Given the description of an element on the screen output the (x, y) to click on. 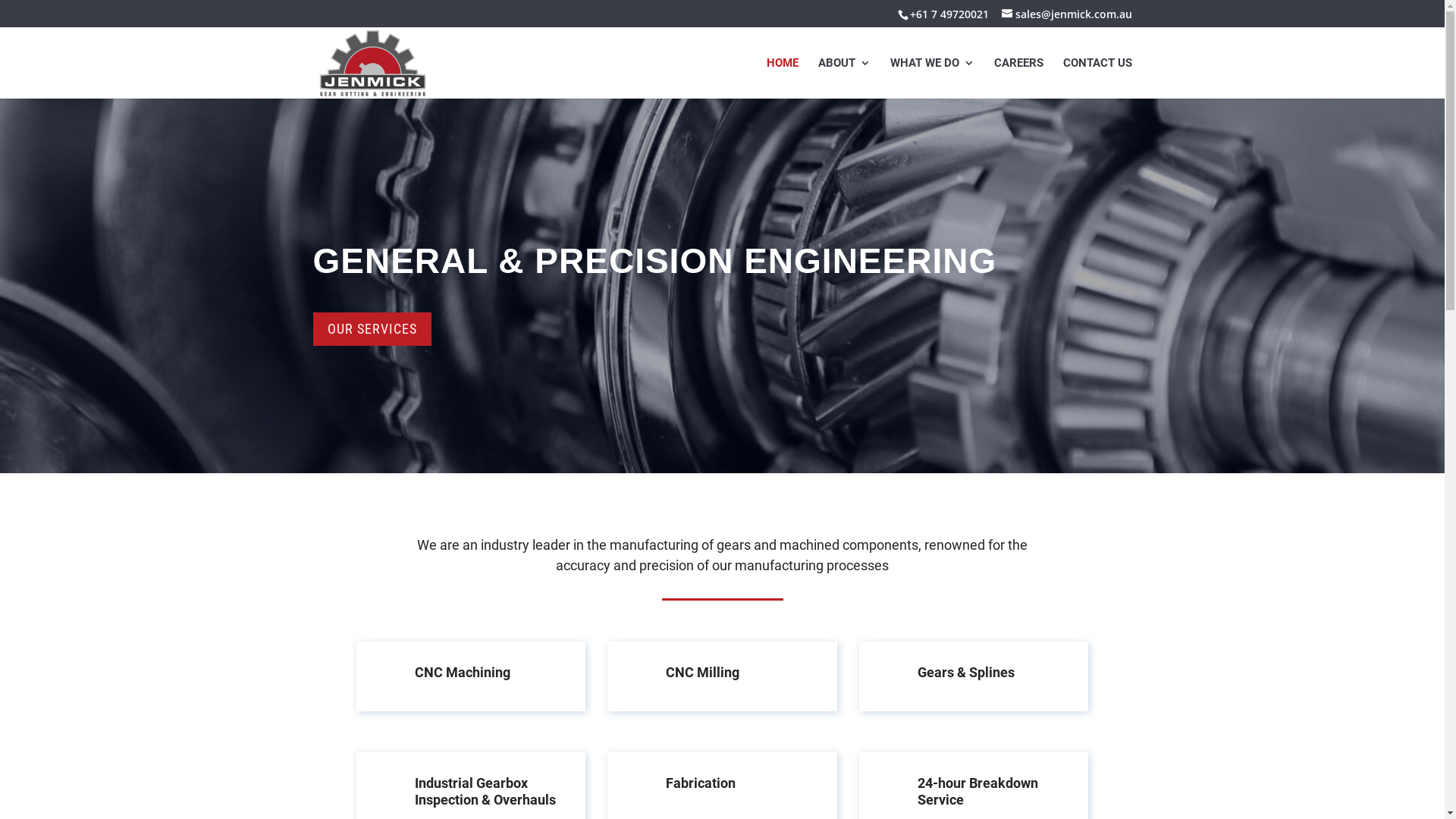
CAREERS Element type: text (1017, 77)
HOME Element type: text (781, 77)
CONTACT US Element type: text (1097, 77)
sales@jenmick.com.au Element type: text (1066, 13)
ABOUT Element type: text (843, 77)
OUR SERVICES Element type: text (371, 328)
WHAT WE DO Element type: text (932, 77)
